Given the description of an element on the screen output the (x, y) to click on. 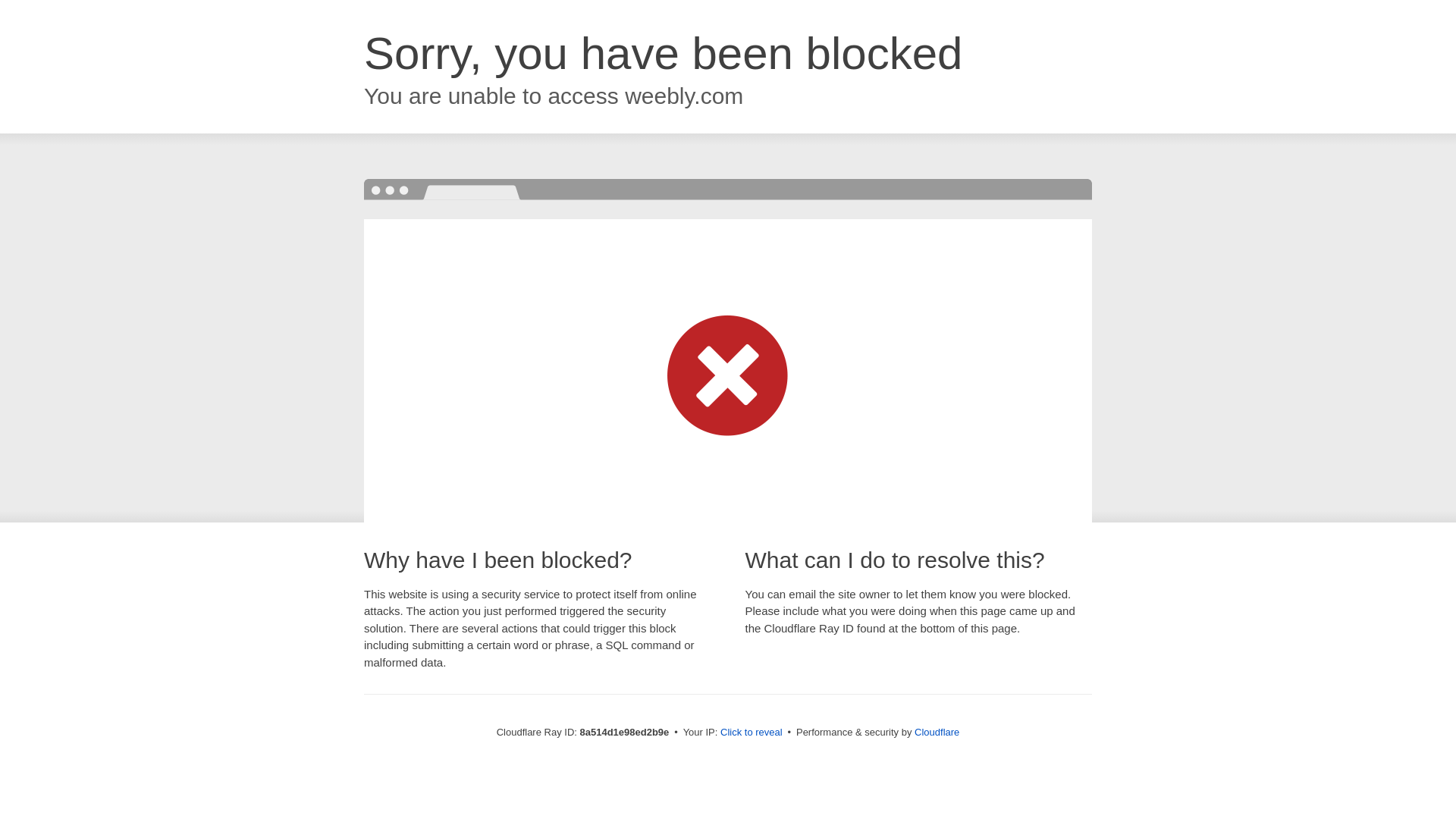
Cloudflare (936, 731)
Click to reveal (751, 732)
